Given the description of an element on the screen output the (x, y) to click on. 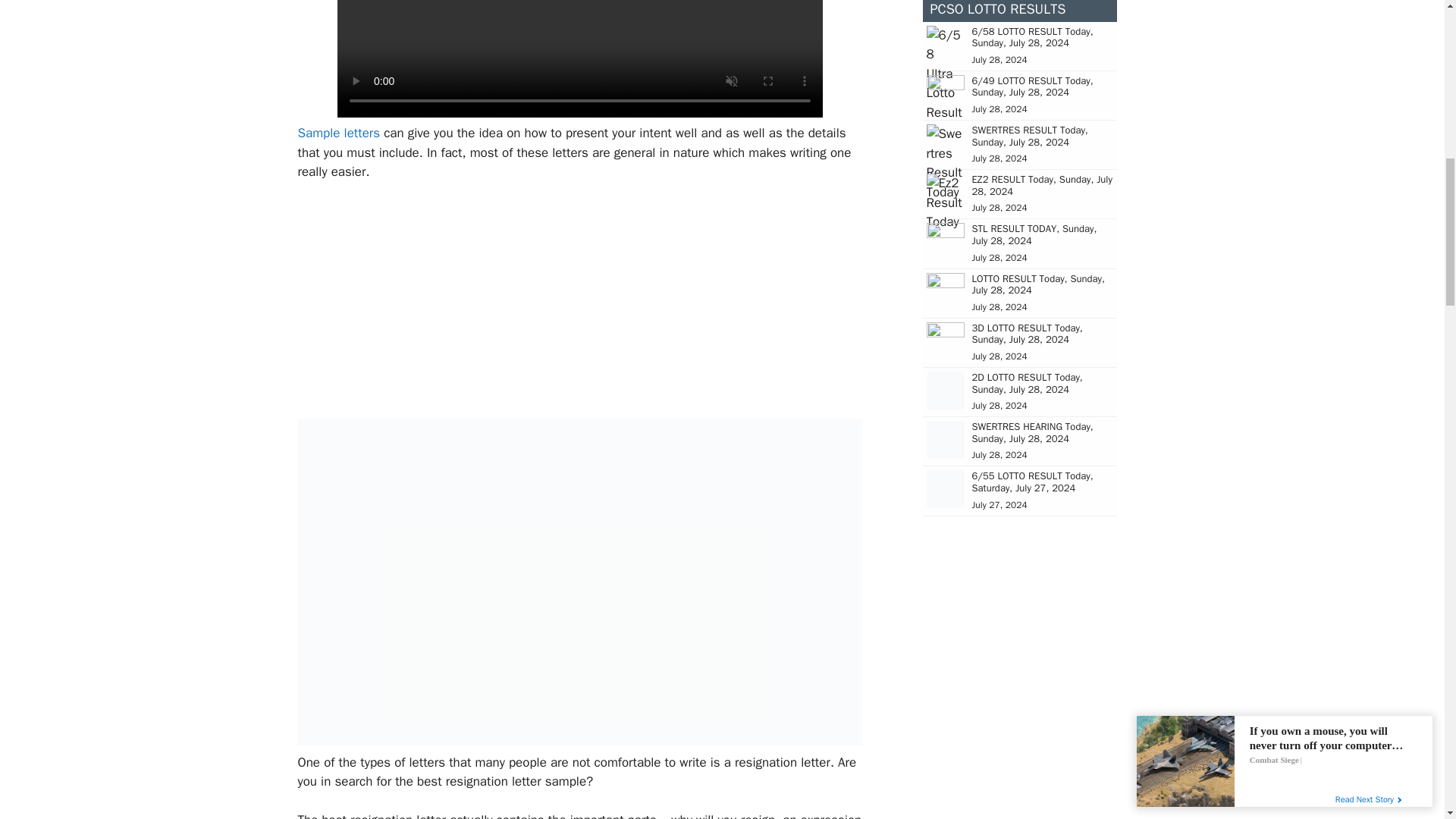
Advertisement (579, 306)
